Given the description of an element on the screen output the (x, y) to click on. 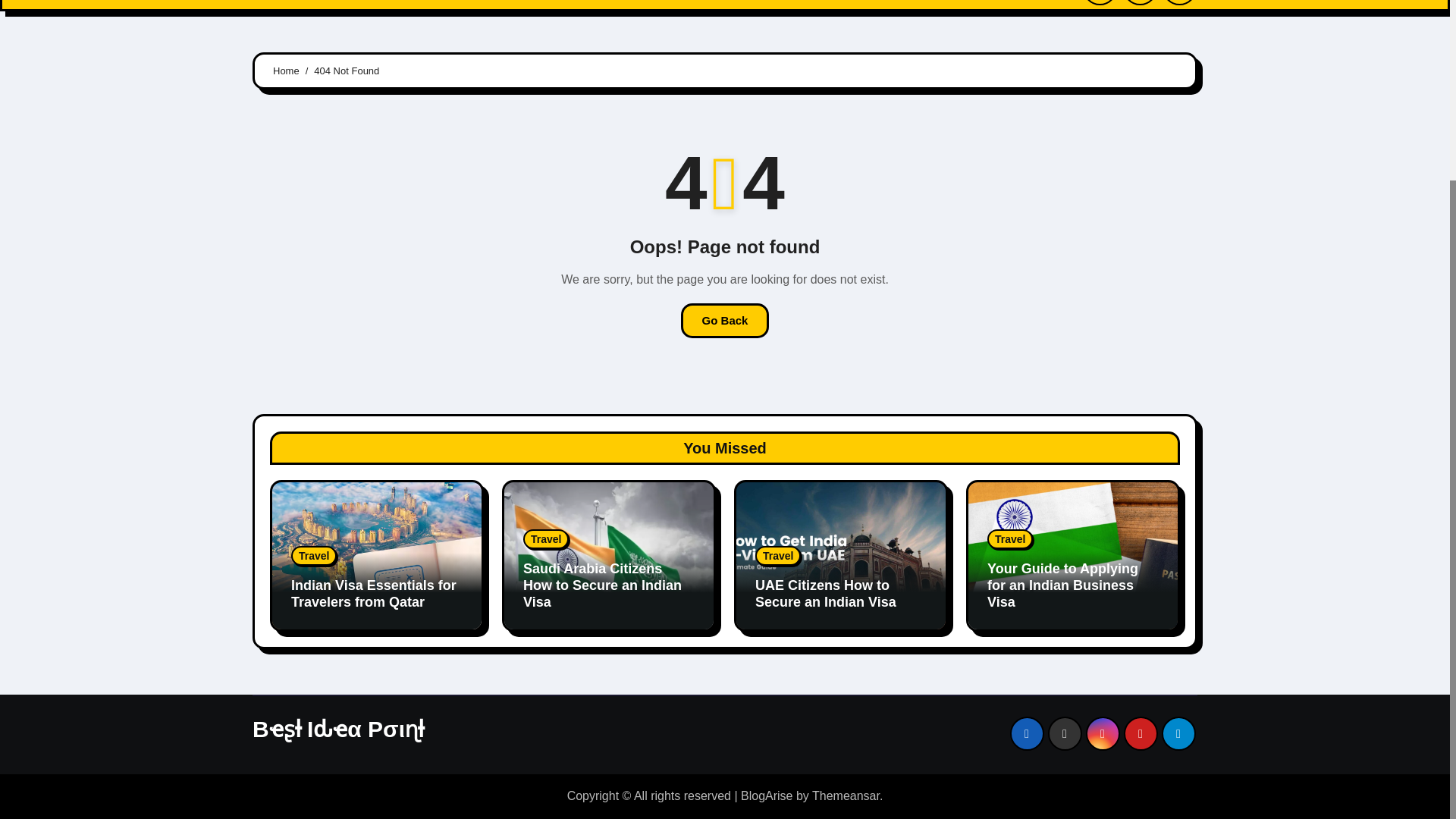
UAE Citizens How to Secure an Indian Visa (825, 593)
Travel (313, 555)
Sample Page (432, 4)
Home (280, 4)
Permalink to: UAE Citizens How to Secure an Indian Visa (825, 593)
Travel (1009, 538)
Home (280, 4)
